Given the description of an element on the screen output the (x, y) to click on. 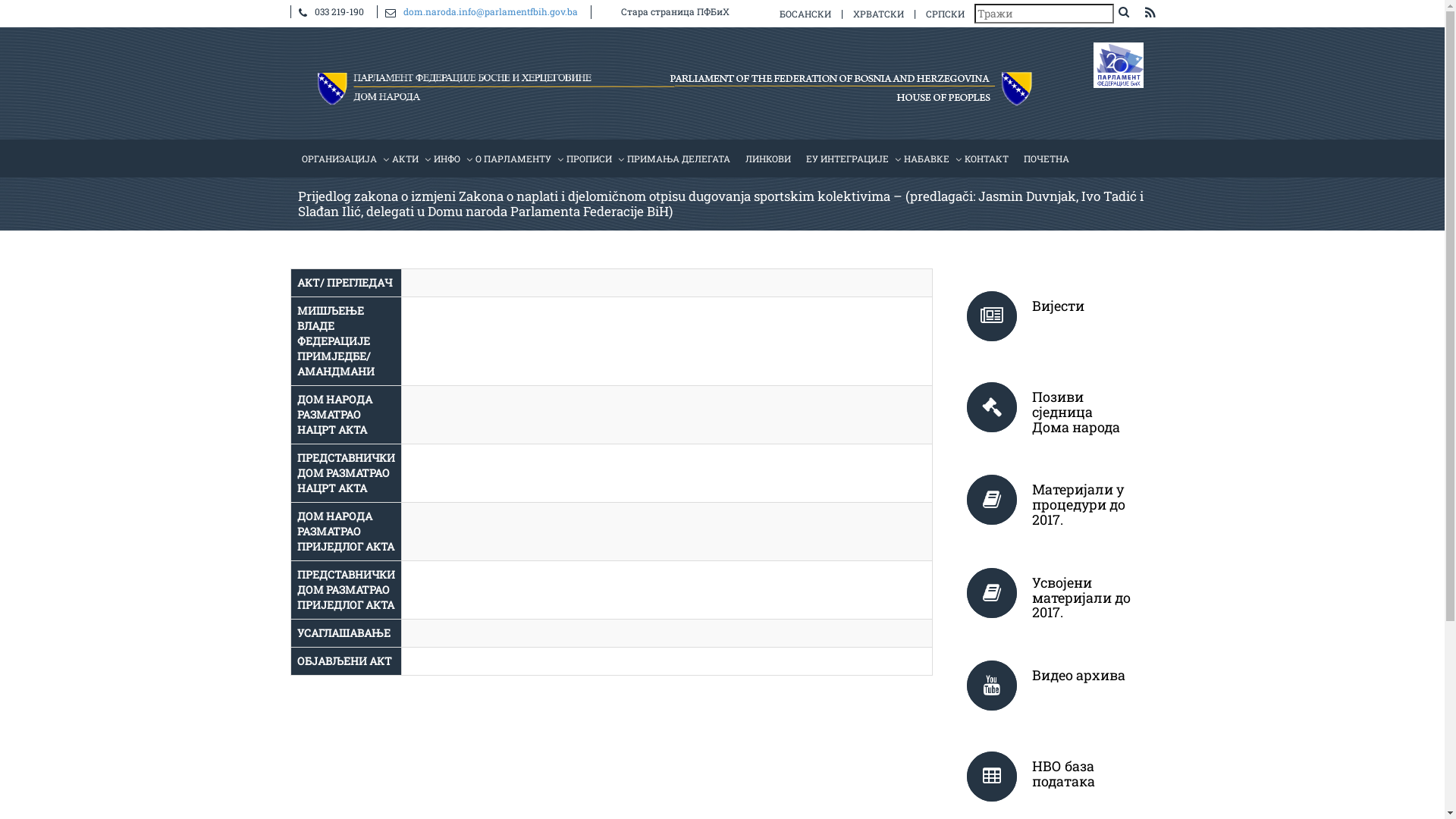
dom.naroda.info@parlamentfbih.gov.ba Element type: text (490, 11)
